Given the description of an element on the screen output the (x, y) to click on. 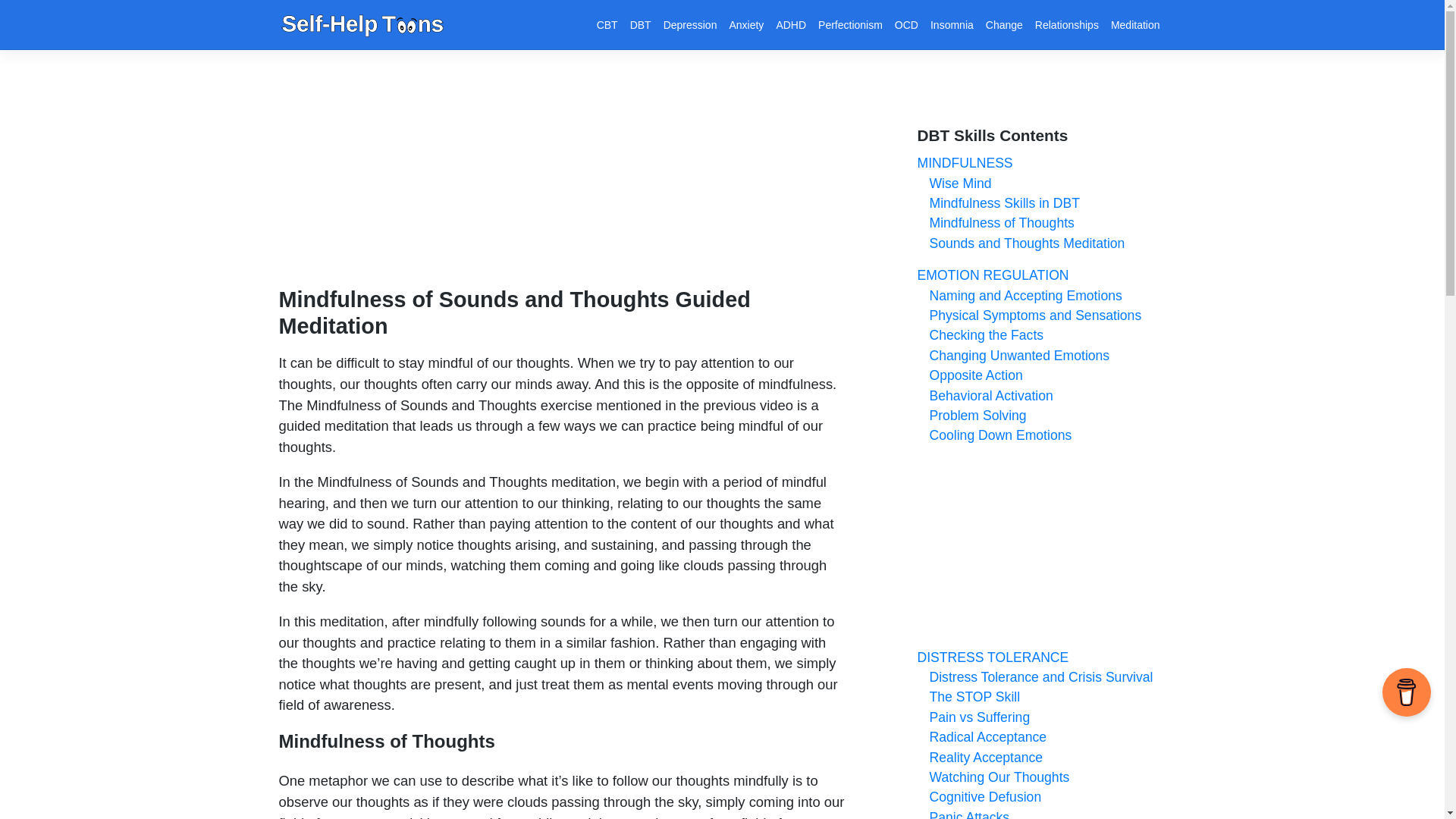
ADHD (791, 24)
ADHD (791, 24)
Wise Mind (954, 183)
Change (1004, 24)
Mindfulness of Thoughts (995, 222)
Problem Solving (971, 415)
DISTRESS TOLERANCE (992, 657)
Perfectionism (850, 24)
Pain vs Suffering (973, 717)
Anxiety (746, 24)
Advertisement (1041, 552)
Physical Symptoms and Sensations (1029, 314)
Relationships (1067, 24)
OCD (906, 24)
EMOTION REGULATION (992, 274)
